Given the description of an element on the screen output the (x, y) to click on. 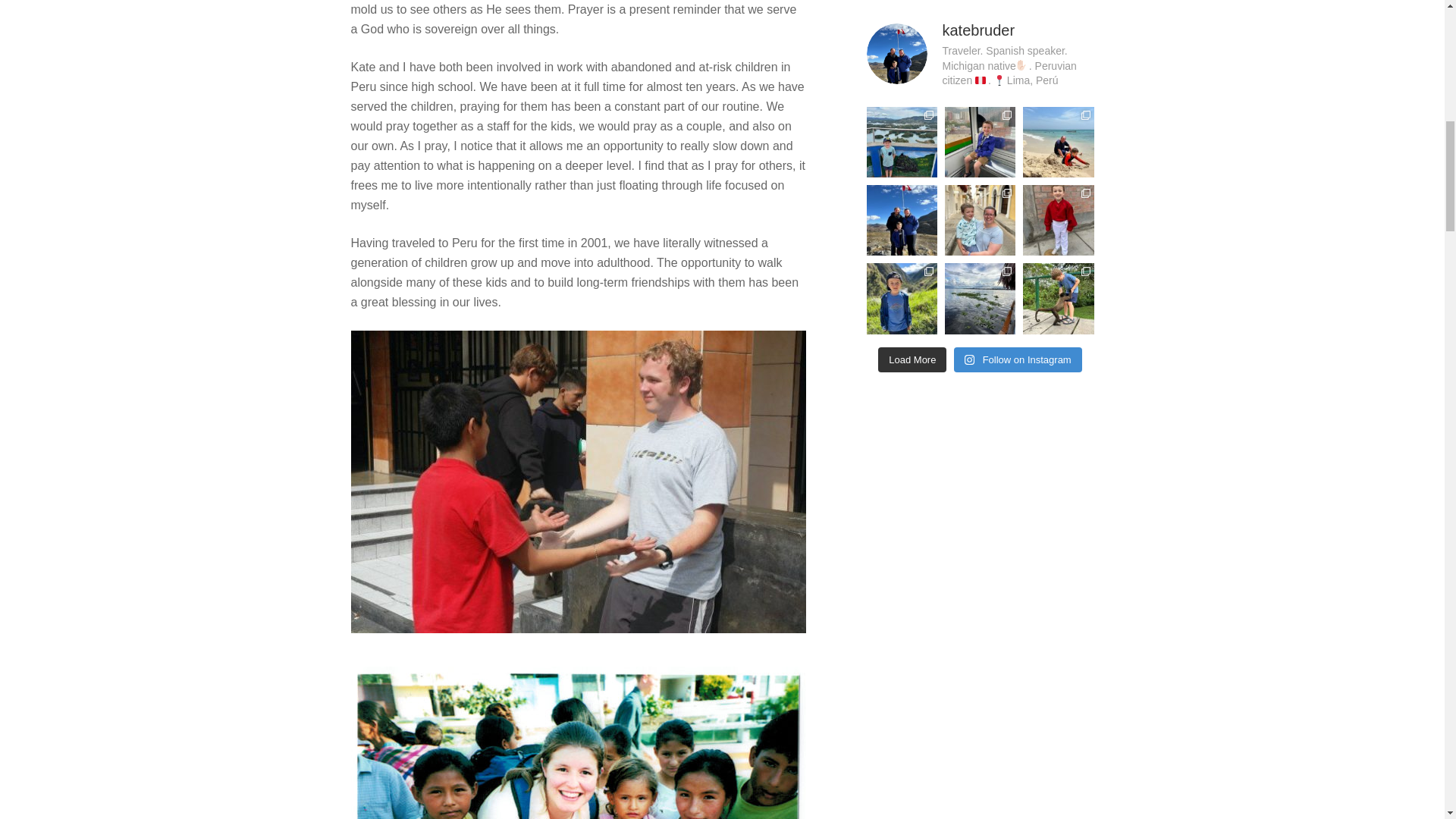
Load More (911, 360)
Follow on Instagram (1017, 360)
